Given the description of an element on the screen output the (x, y) to click on. 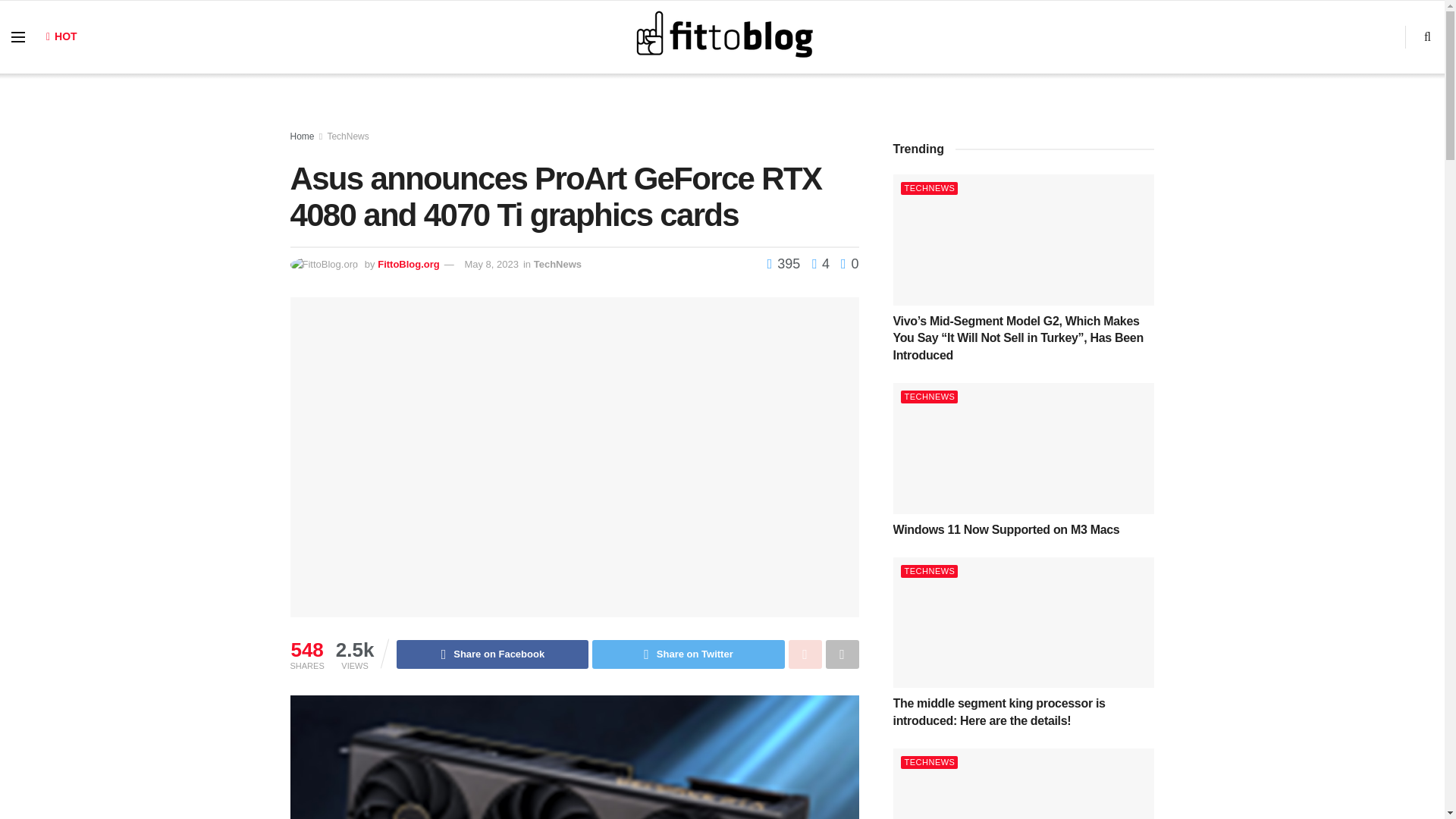
395 (786, 263)
Home (301, 136)
HOT (61, 36)
TechNews (347, 136)
4 (816, 263)
0 (850, 263)
FittoBlog.org (408, 264)
TechNews (557, 264)
May 8, 2023 (491, 264)
Share on Twitter (688, 654)
Share on Facebook (492, 654)
